Given the description of an element on the screen output the (x, y) to click on. 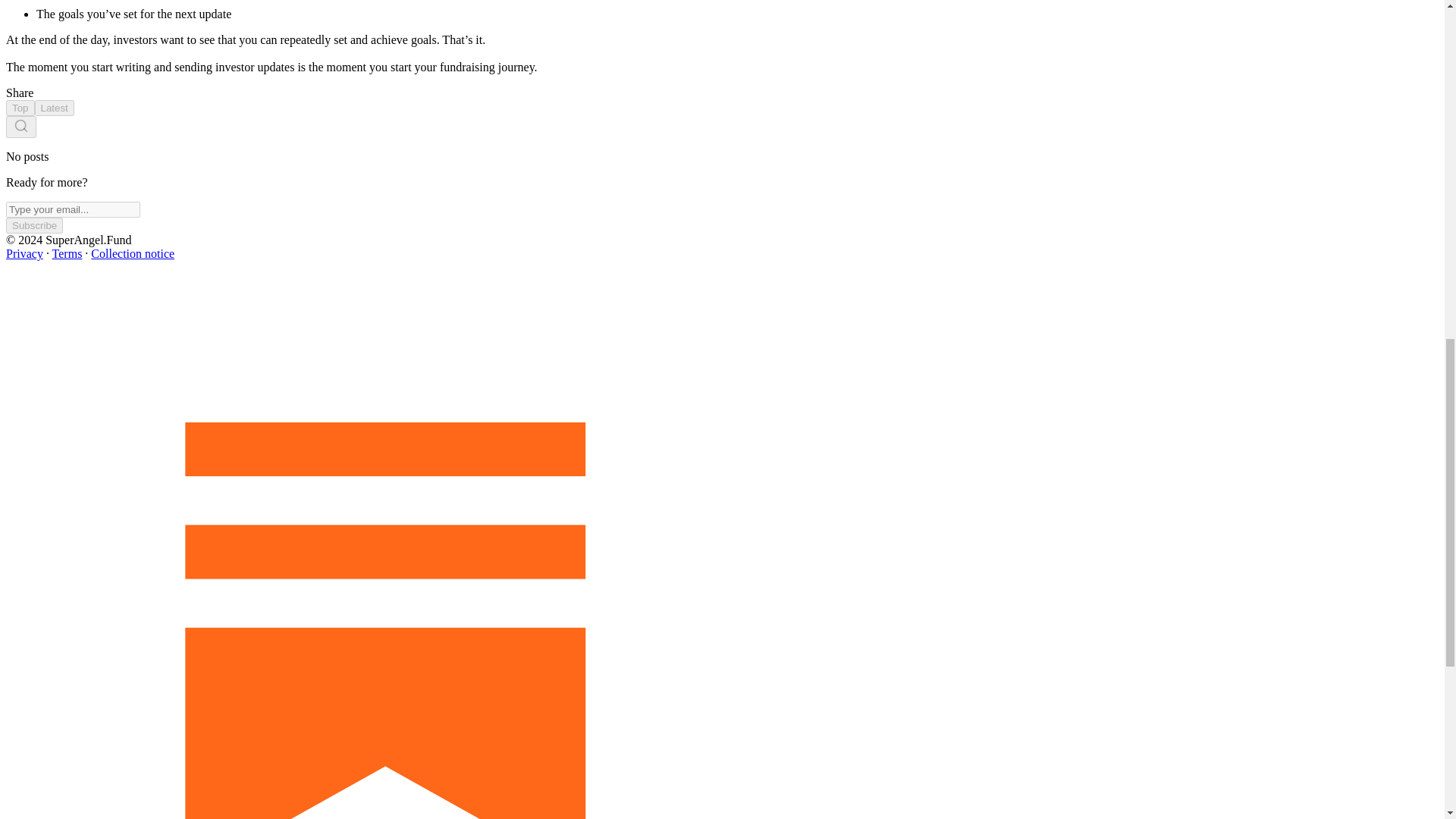
Latest (54, 107)
Privacy (24, 253)
Terms (67, 253)
Collection notice (132, 253)
Top (19, 107)
Subscribe (33, 225)
